Given the description of an element on the screen output the (x, y) to click on. 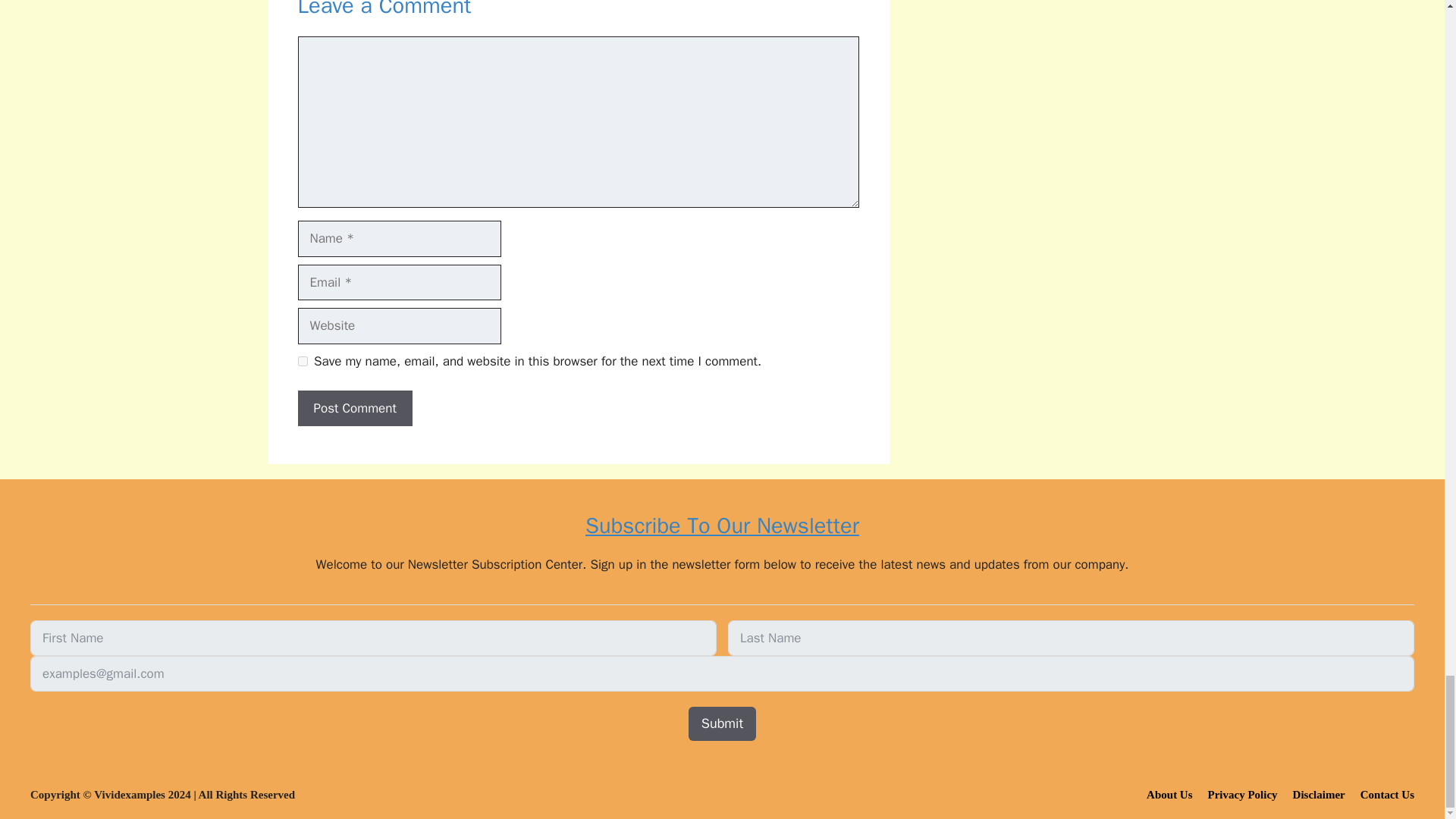
yes (302, 361)
Post Comment (354, 408)
